Given the description of an element on the screen output the (x, y) to click on. 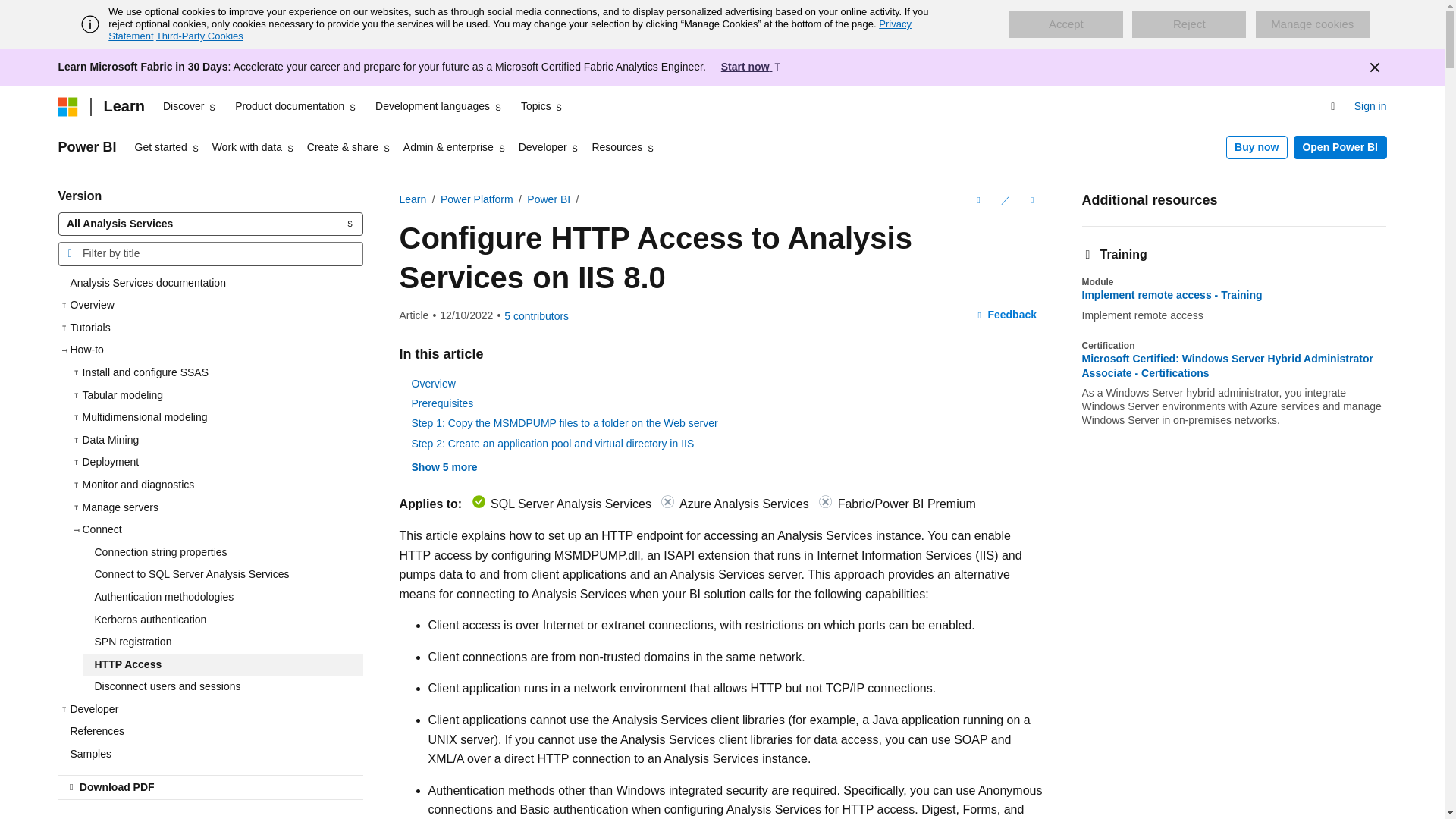
Skip to main content (11, 11)
Discover (189, 106)
View all contributors (536, 316)
Reject (1189, 23)
Dismiss alert (1373, 67)
Start now (751, 66)
Sign in (1370, 107)
Privacy Statement (509, 29)
Accept (1065, 23)
More actions (1031, 200)
